Given the description of an element on the screen output the (x, y) to click on. 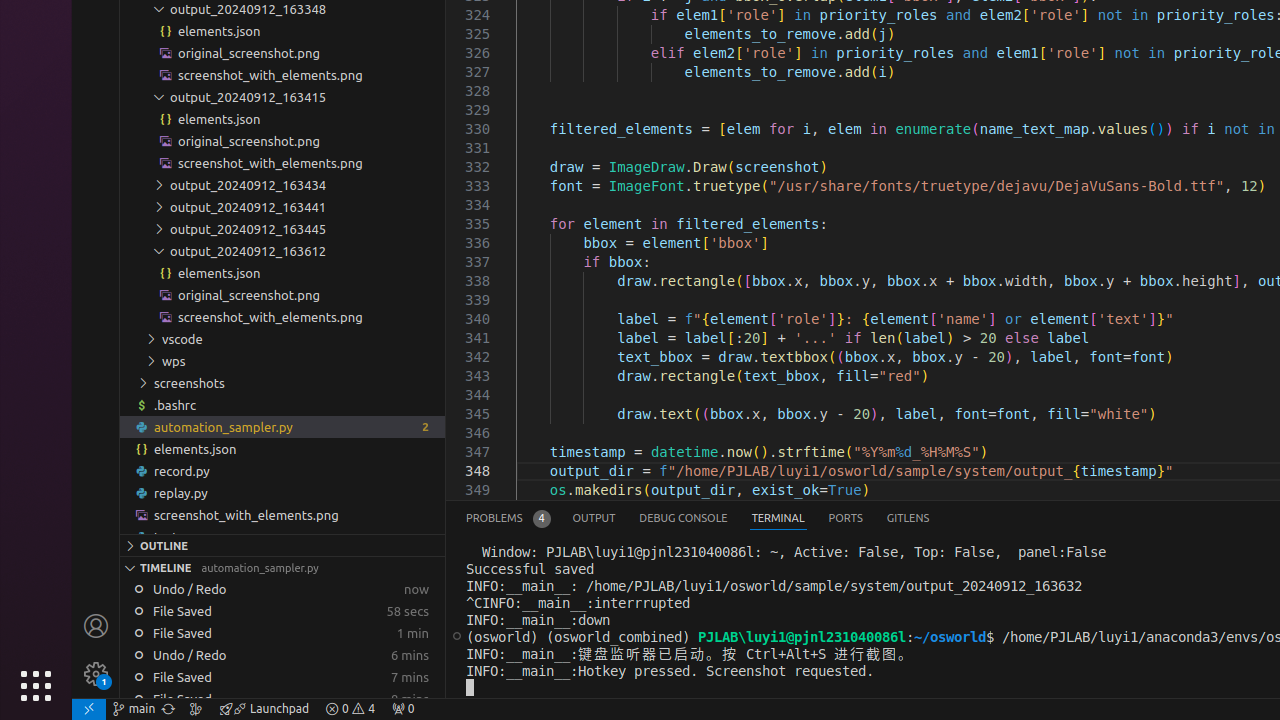
output_20240912_163612 Element type: tree-item (282, 251)
